Given the description of an element on the screen output the (x, y) to click on. 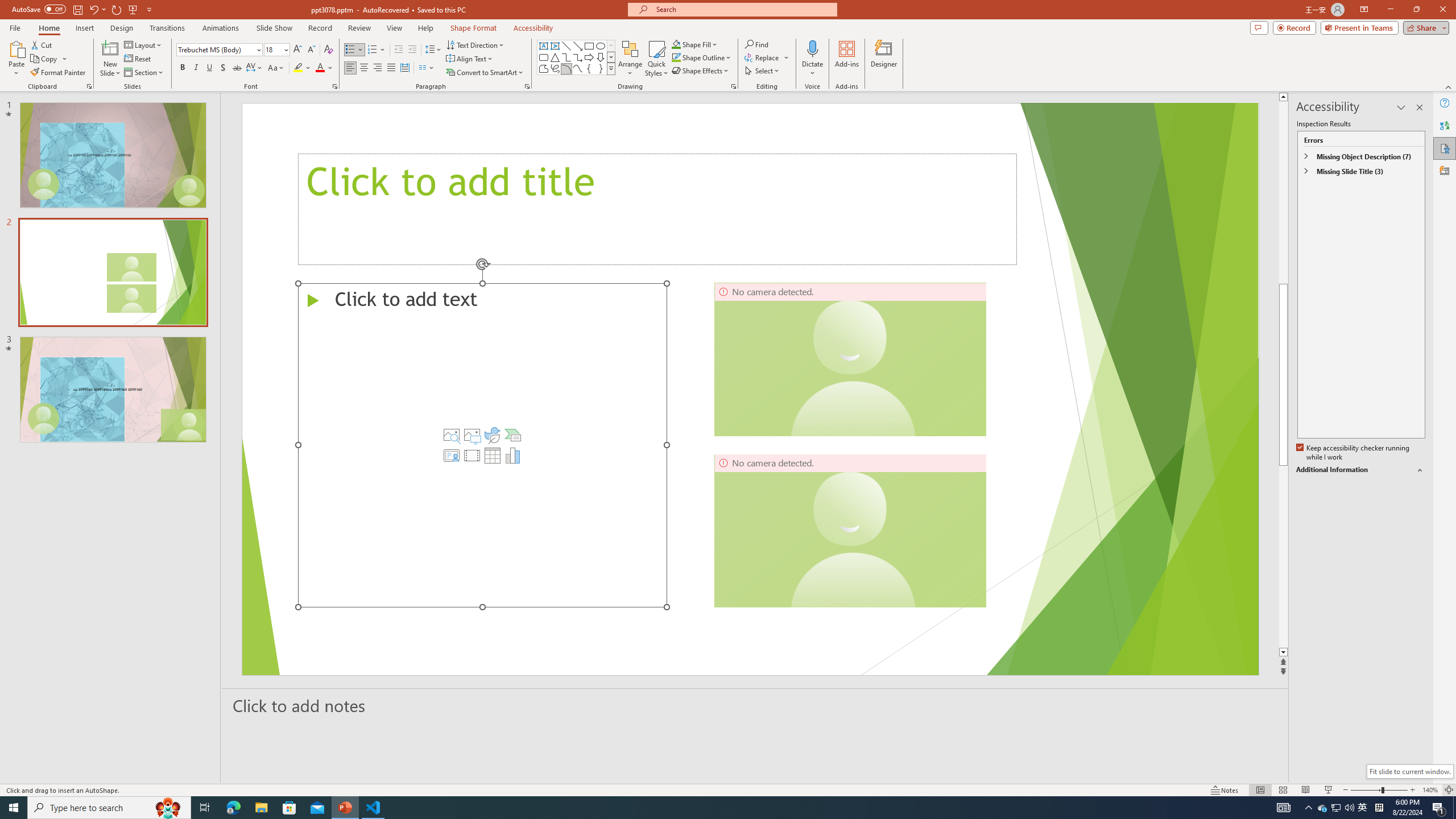
Camera 5, No camera detected. (850, 359)
Camera 3, No camera detected. (850, 530)
